Given the description of an element on the screen output the (x, y) to click on. 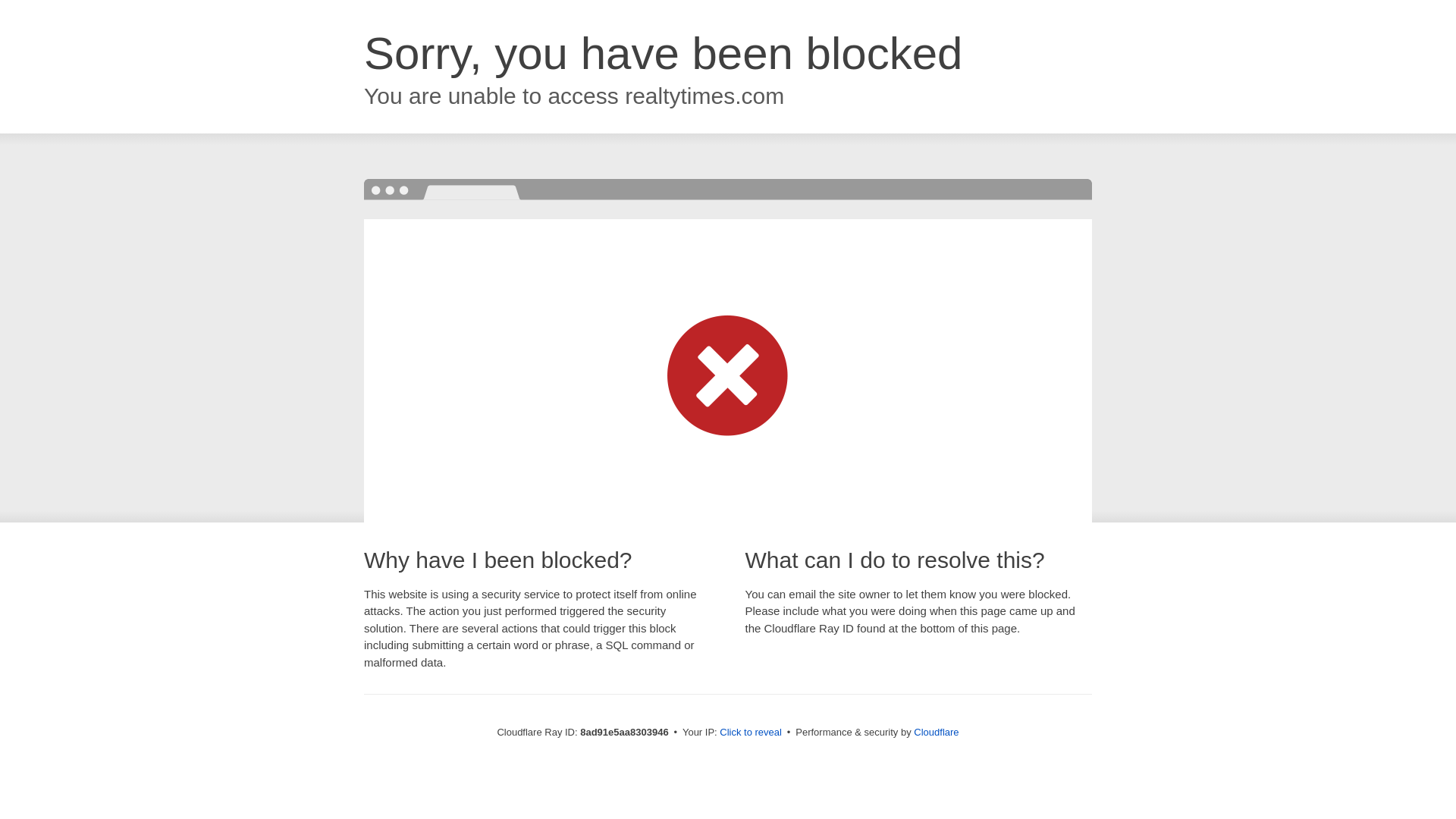
Cloudflare (936, 731)
Click to reveal (750, 732)
